Given the description of an element on the screen output the (x, y) to click on. 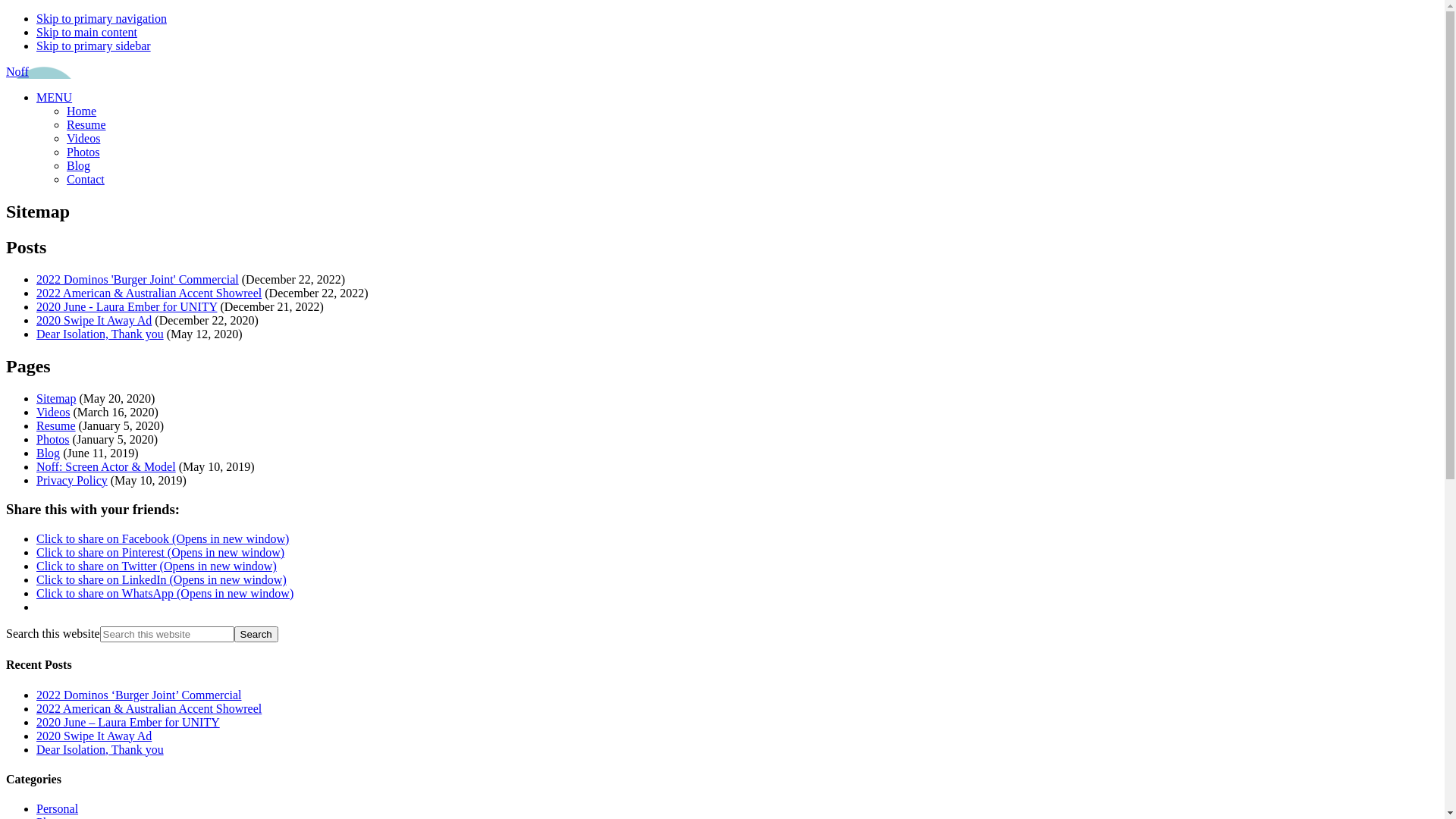
Personal Element type: text (57, 808)
Photos Element type: text (83, 151)
Skip to primary sidebar Element type: text (93, 45)
Photos Element type: text (52, 439)
Contact Element type: text (85, 178)
Click to share on LinkedIn (Opens in new window) Element type: text (161, 579)
Videos Element type: text (83, 137)
Skip to primary navigation Element type: text (101, 18)
2020 June - Laura Ember for UNITY Element type: text (126, 306)
2022 Dominos 'Burger Joint' Commercial Element type: text (137, 279)
Click to share on WhatsApp (Opens in new window) Element type: text (164, 592)
Resume Element type: text (86, 124)
Blog Element type: text (78, 165)
2020 Swipe It Away Ad Element type: text (93, 319)
Home Element type: text (81, 110)
2022 American & Australian Accent Showreel Element type: text (148, 708)
Noff: Screen Actor & Model Element type: text (105, 466)
2022 American & Australian Accent Showreel Element type: text (148, 292)
Skip to main content Element type: text (86, 31)
Resume Element type: text (55, 425)
Click to share on Facebook (Opens in new window) Element type: text (162, 538)
Dear Isolation, Thank you Element type: text (99, 333)
2020 Swipe It Away Ad Element type: text (93, 735)
Noff Element type: text (17, 71)
Search Element type: text (256, 634)
Dear Isolation, Thank you Element type: text (99, 749)
Blog Element type: text (47, 452)
Click to share on Twitter (Opens in new window) Element type: text (156, 565)
Click to share on Pinterest (Opens in new window) Element type: text (160, 552)
Privacy Policy Element type: text (71, 479)
MENU Element type: text (54, 97)
Videos Element type: text (52, 411)
Sitemap Element type: text (55, 398)
